Given the description of an element on the screen output the (x, y) to click on. 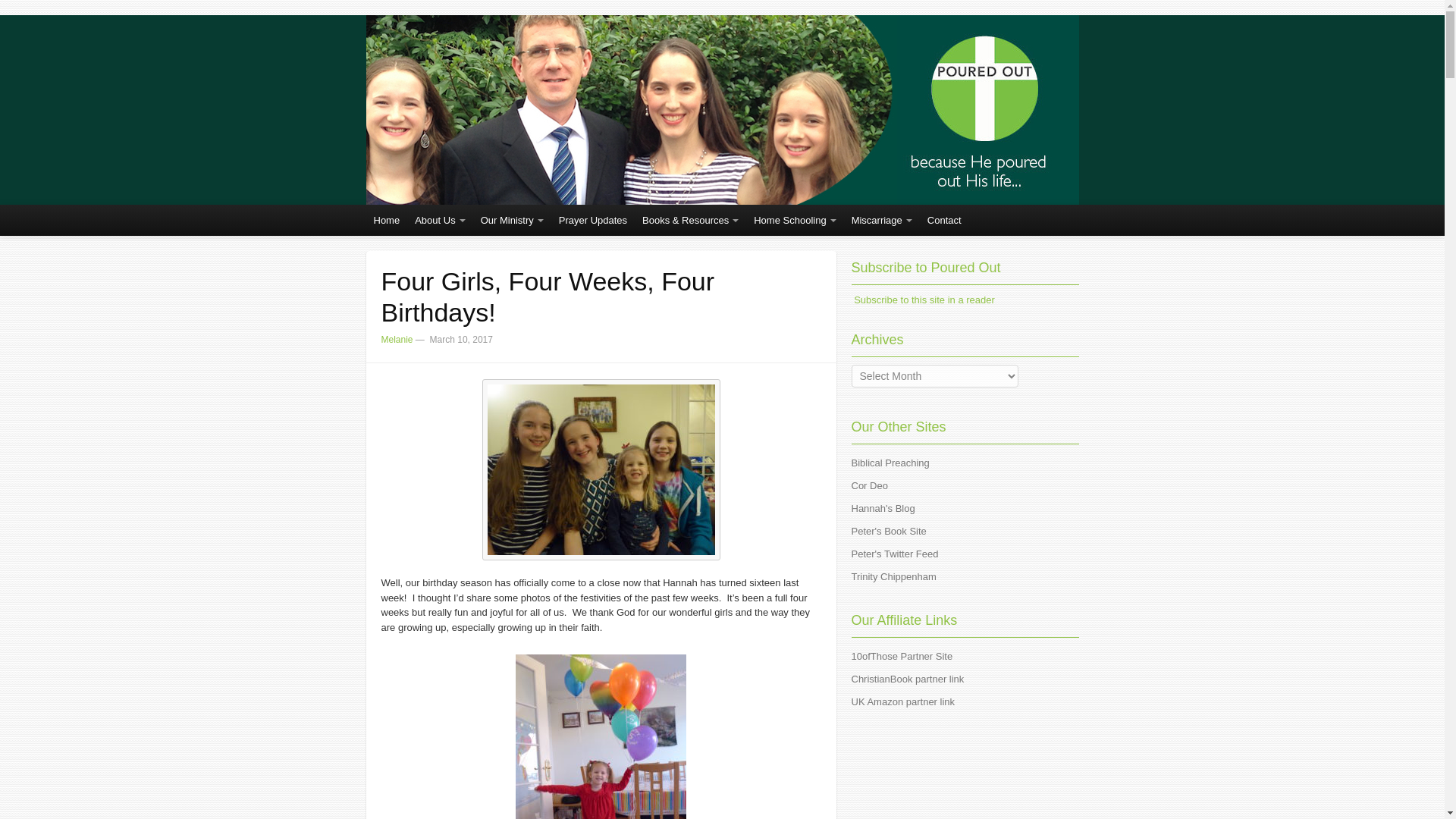
Home Schooling (794, 219)
Prayer Updates (592, 219)
Home (386, 219)
Miscarriage (882, 219)
Melanie (396, 339)
Our Ministry (512, 219)
Contact (944, 219)
About Us (439, 219)
